Given the description of an element on the screen output the (x, y) to click on. 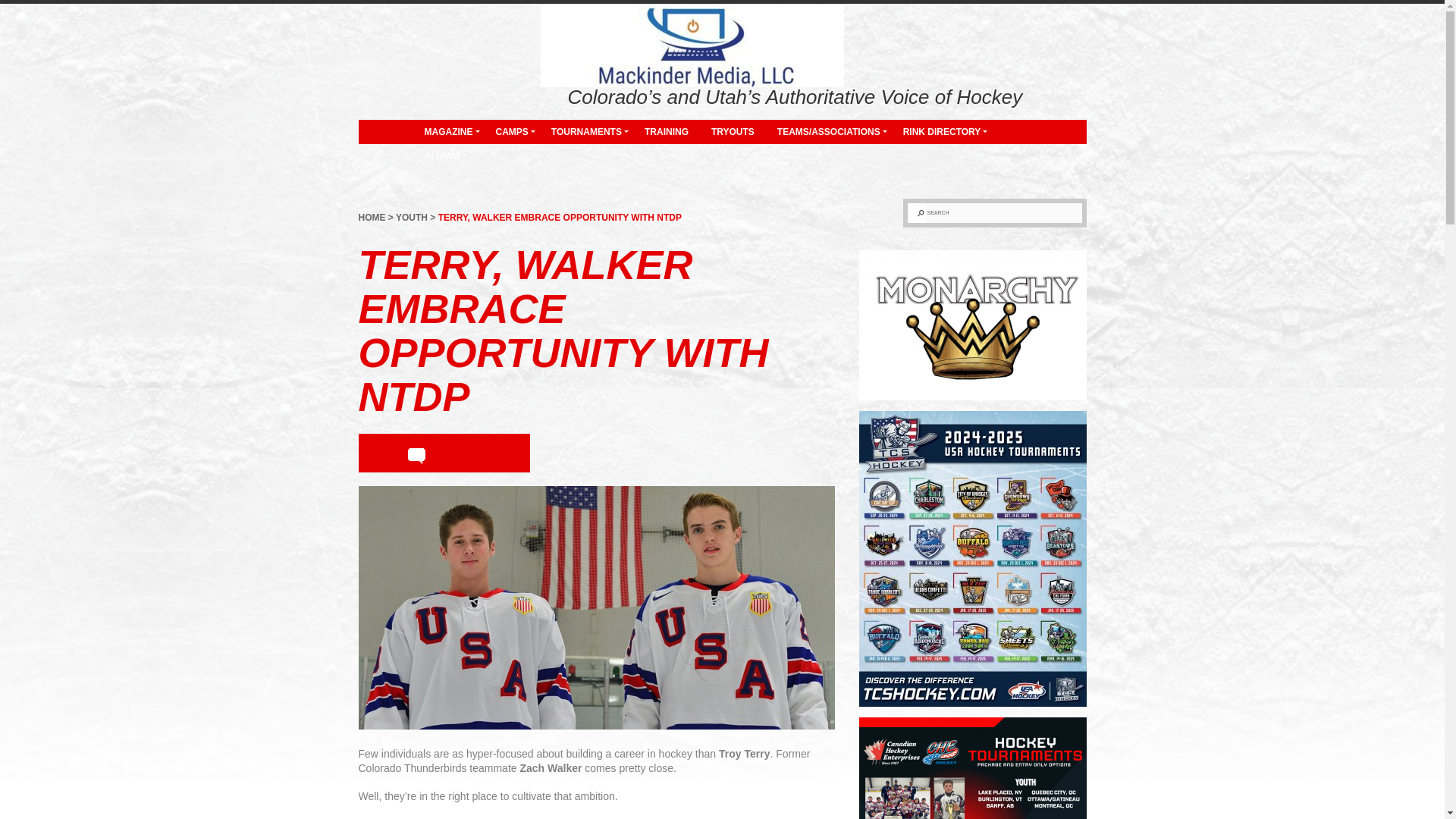
TRAINING (666, 131)
TRYOUTS (732, 131)
MAGAZINE (447, 131)
Colorado Rubber (412, 93)
RINK DIRECTORY (941, 131)
TOURNAMENTS (586, 131)
ALUMNI (441, 156)
CAMPS (510, 131)
